Given the description of an element on the screen output the (x, y) to click on. 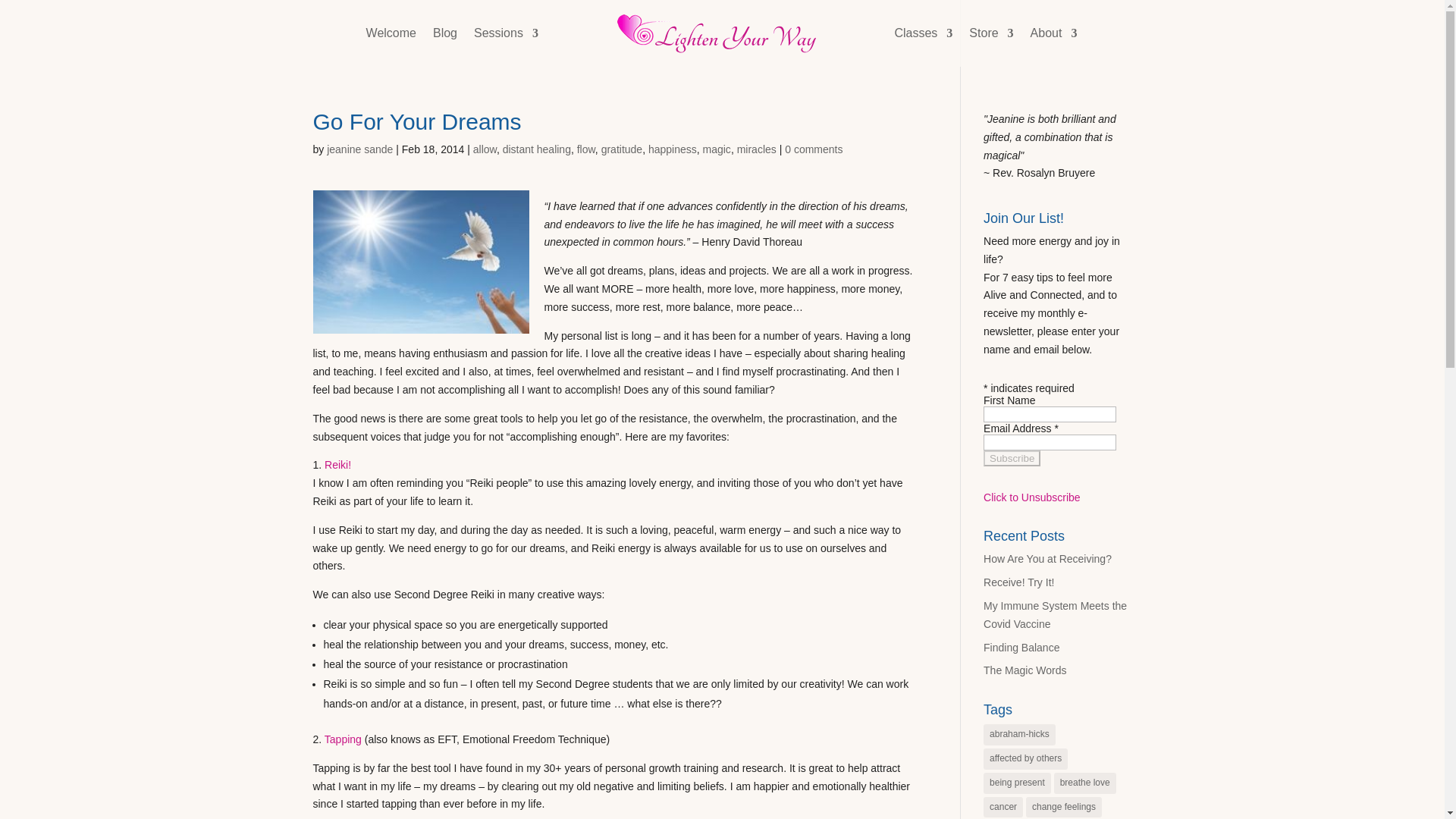
Intuitive EFT Tapping (342, 739)
Posts by jeanine sande (359, 149)
Reiki (337, 464)
Store (991, 46)
About (1053, 46)
Classes (922, 46)
Subscribe (1012, 458)
Sessions (506, 46)
Welcome (391, 46)
